Given the description of an element on the screen output the (x, y) to click on. 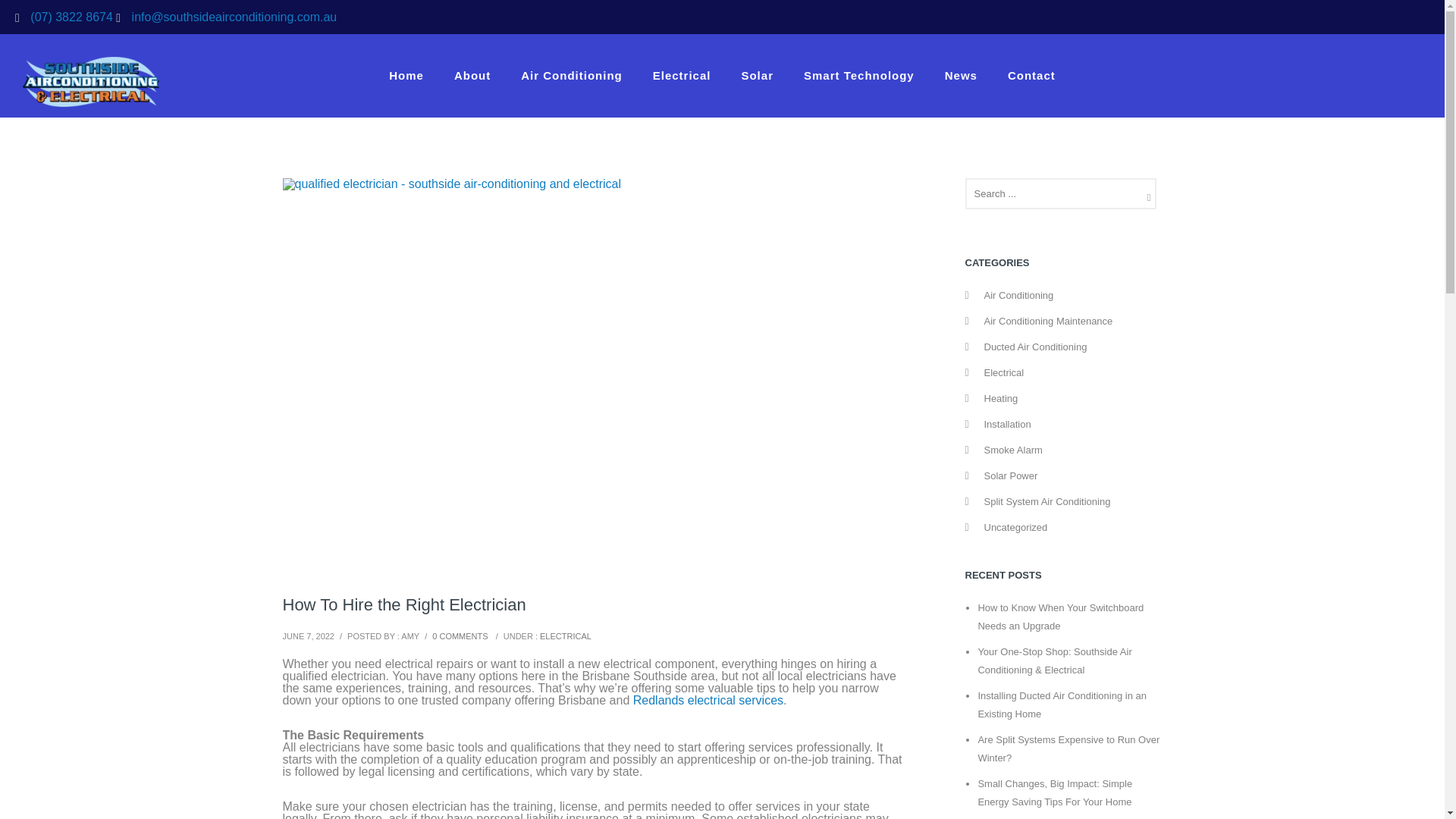
Air Conditioning (571, 74)
Air Conditioning (571, 74)
Solar (757, 74)
About (472, 74)
Smart Technology (859, 74)
News (961, 74)
Home (406, 74)
Solar (757, 74)
Electrical (681, 74)
Contact (1031, 74)
